Given the description of an element on the screen output the (x, y) to click on. 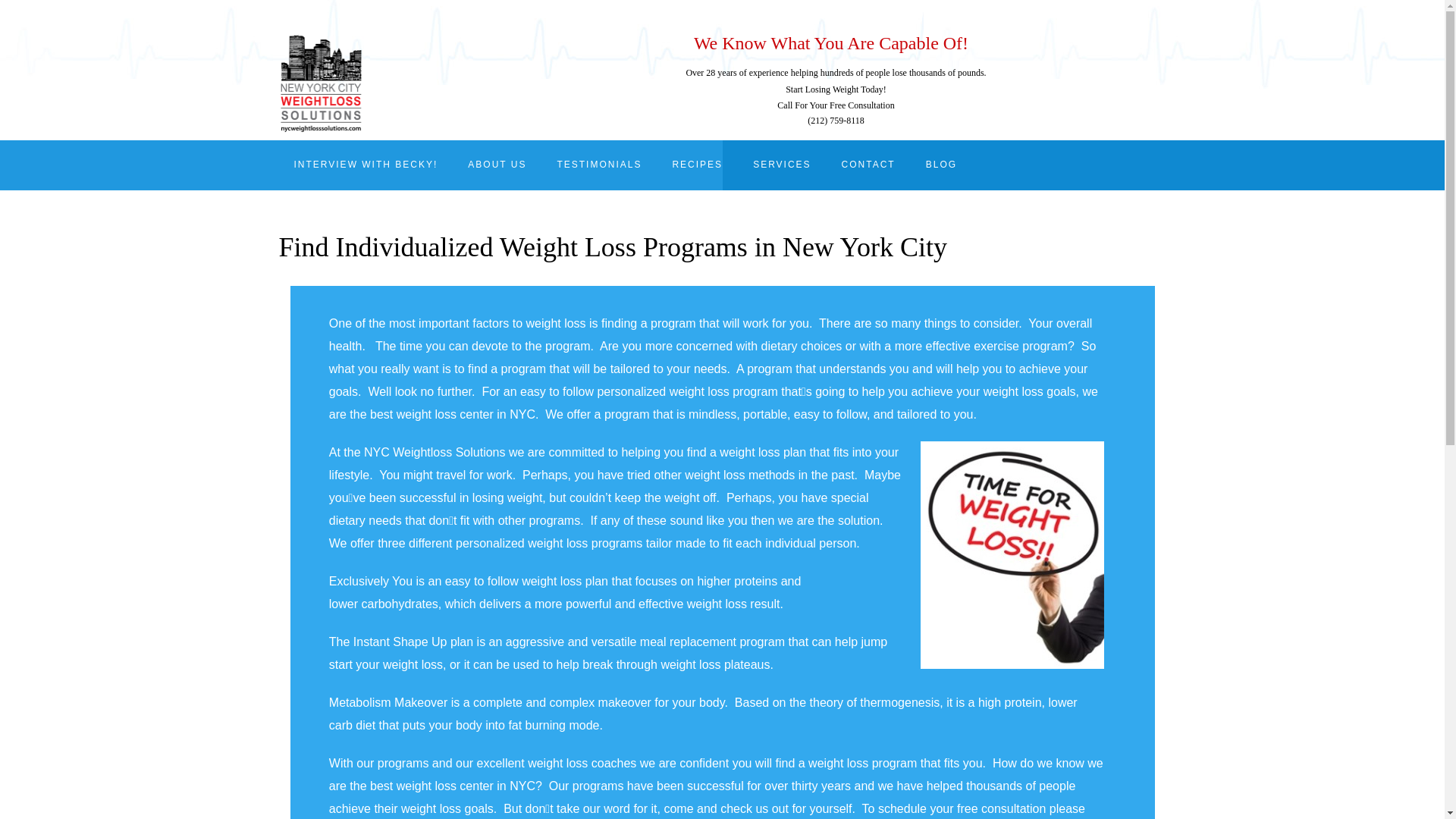
Testimonials (598, 165)
Blog (941, 165)
Interview With Becky! (365, 165)
Services (781, 165)
RECIPES (697, 165)
Contact (869, 165)
Recipes (697, 165)
CONTACT (869, 165)
ABOUT US (496, 165)
TESTIMONIALS (598, 165)
SERVICES (781, 165)
INTERVIEW WITH BECKY! (365, 165)
About Us (496, 165)
BLOG (941, 165)
